Given the description of an element on the screen output the (x, y) to click on. 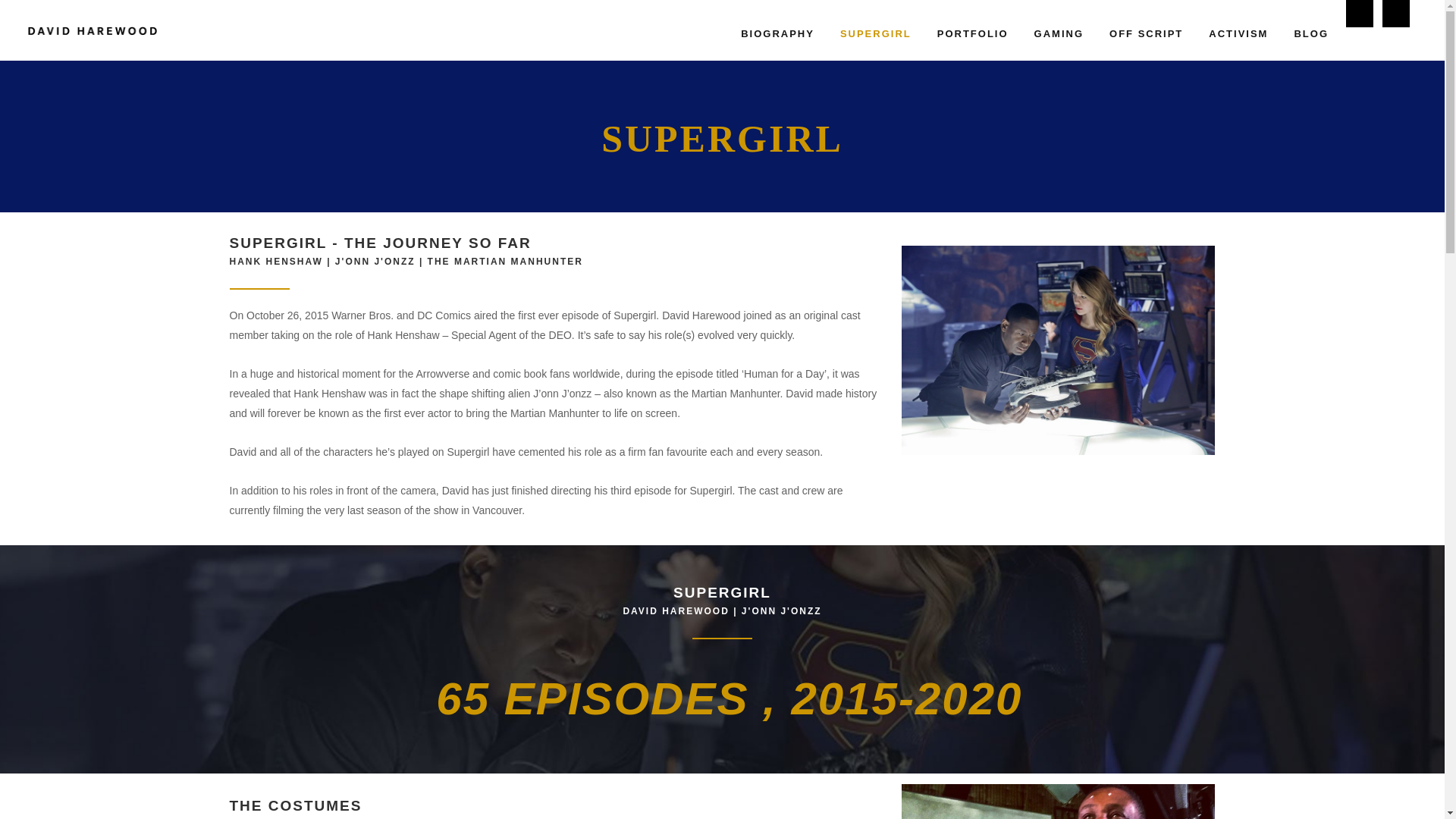
BIOGRAPHY (777, 33)
SUPERGIRL (875, 33)
Twitter (1395, 13)
Twitter (1396, 13)
Instagram (1359, 13)
PORTFOLIO (973, 33)
BLOG (1310, 33)
OFF SCRIPT (1145, 33)
Instagram (1359, 13)
ACTIVISM (1238, 33)
GAMING (1059, 33)
